Given the description of an element on the screen output the (x, y) to click on. 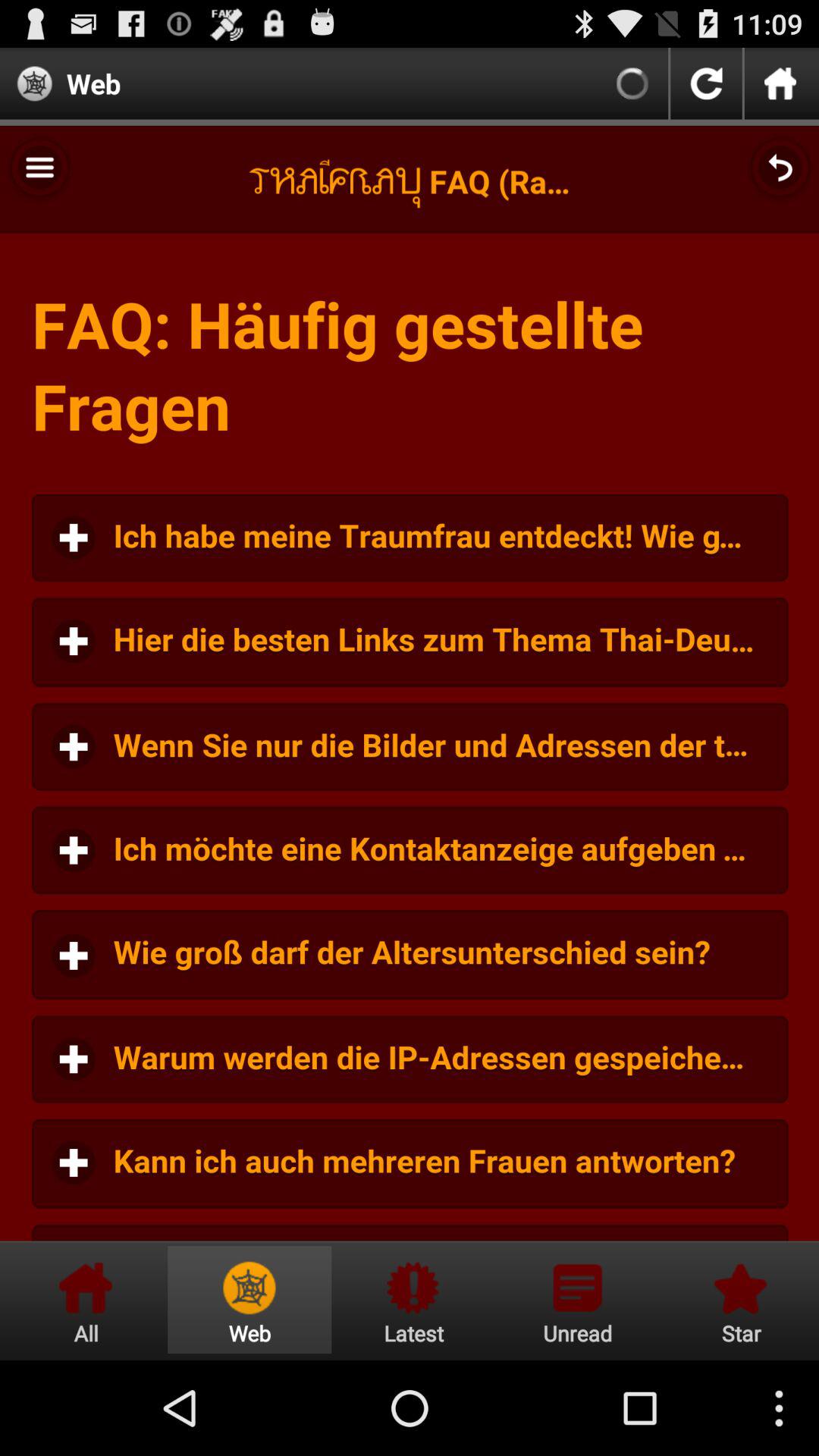
view all (85, 1299)
